Given the description of an element on the screen output the (x, y) to click on. 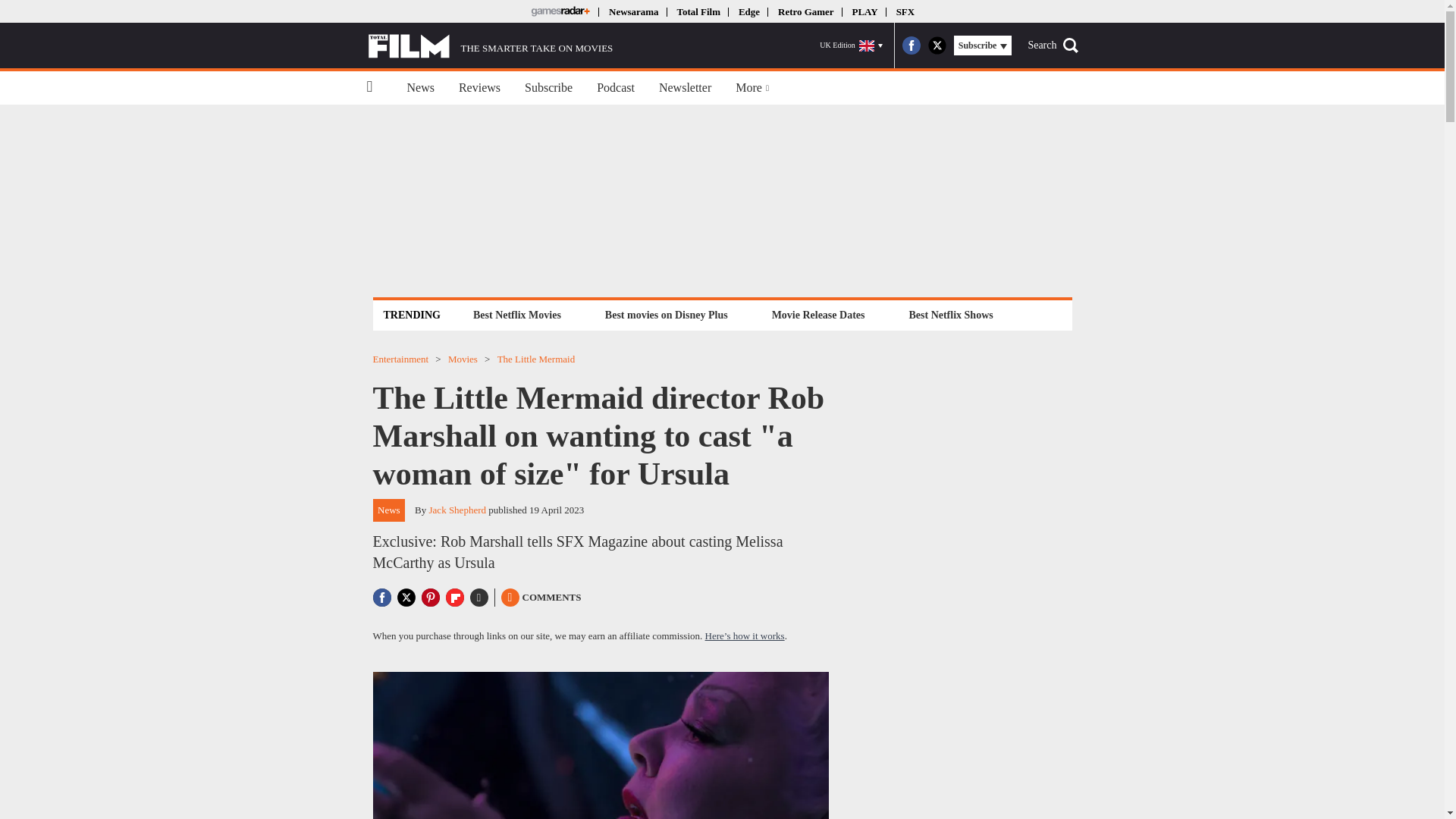
Edge (749, 11)
Retro Gamer (805, 11)
Subscribe (548, 87)
Newsletter (684, 87)
News (419, 87)
SFX (905, 11)
Newsarama (633, 11)
Podcast (615, 87)
Best movies on Disney Plus (666, 314)
Movie Release Dates (818, 314)
